Given the description of an element on the screen output the (x, y) to click on. 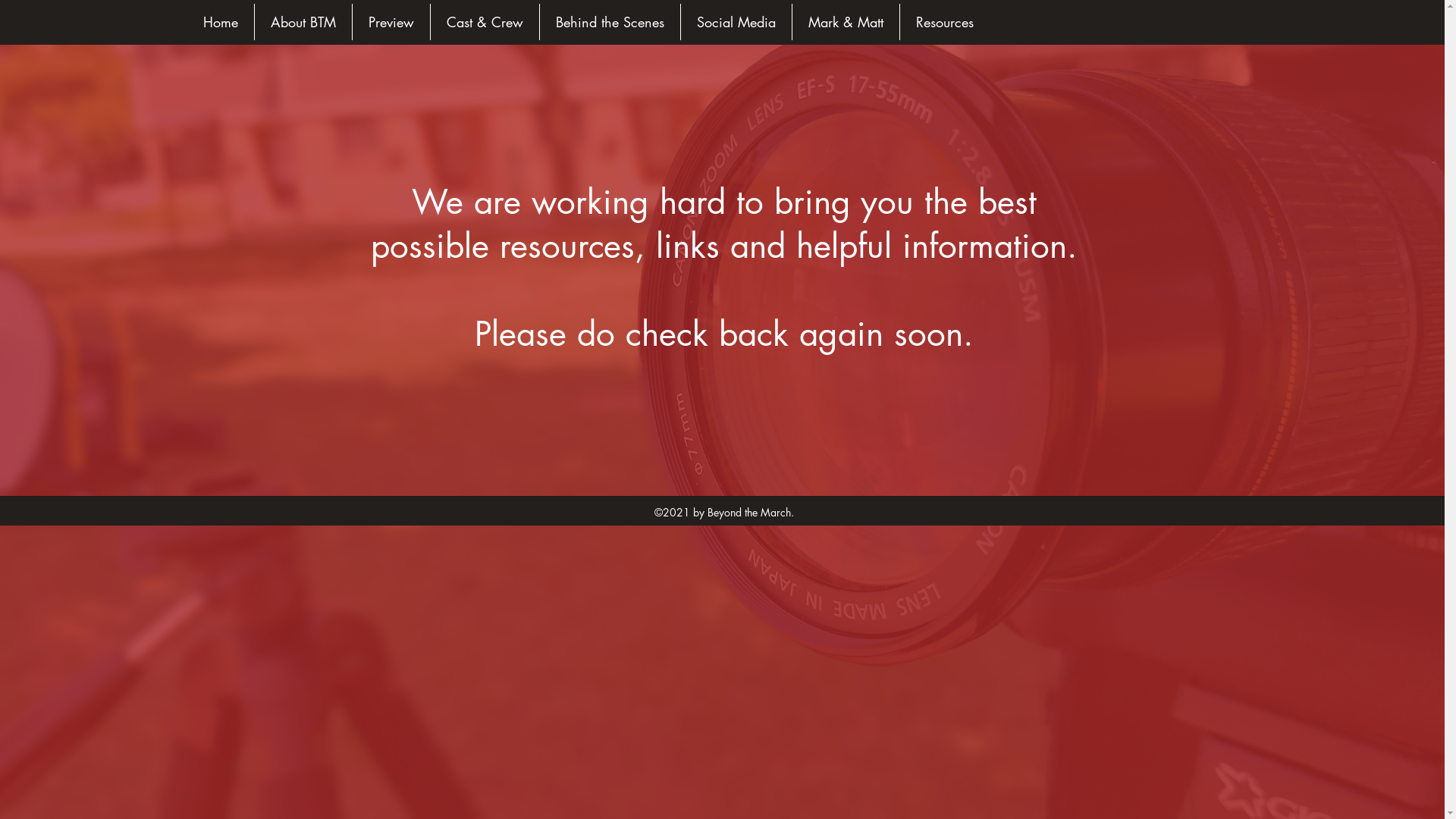
Preview Element type: text (390, 21)
Home Element type: text (219, 21)
Behind the Scenes Element type: text (609, 21)
About BTM Element type: text (302, 21)
Cast & Crew Element type: text (484, 21)
Social Media Element type: text (735, 21)
Resources Element type: text (943, 21)
Mark & Matt Element type: text (844, 21)
